Given the description of an element on the screen output the (x, y) to click on. 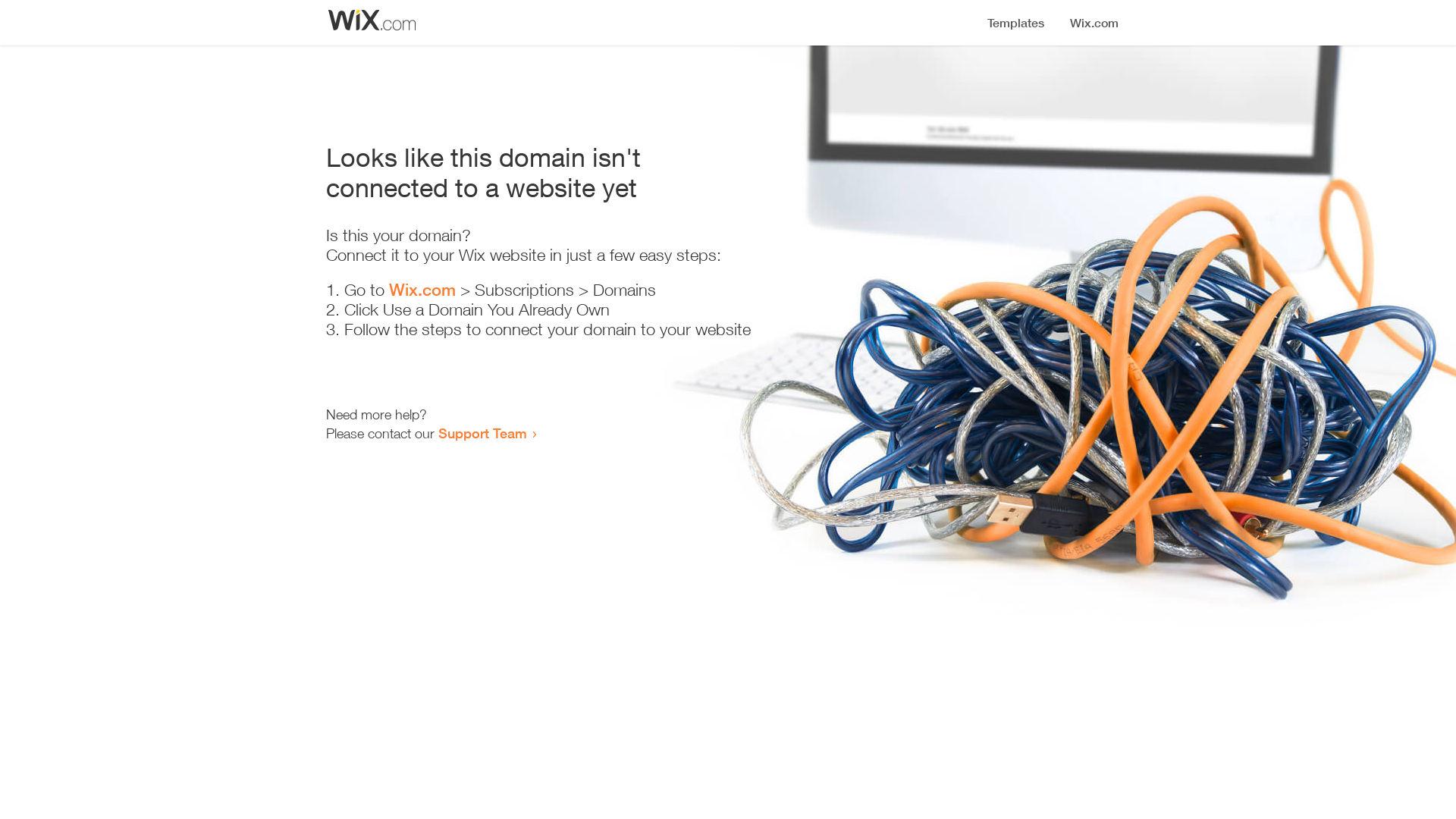
Support Team Element type: text (482, 432)
Wix.com Element type: text (422, 289)
